Given the description of an element on the screen output the (x, y) to click on. 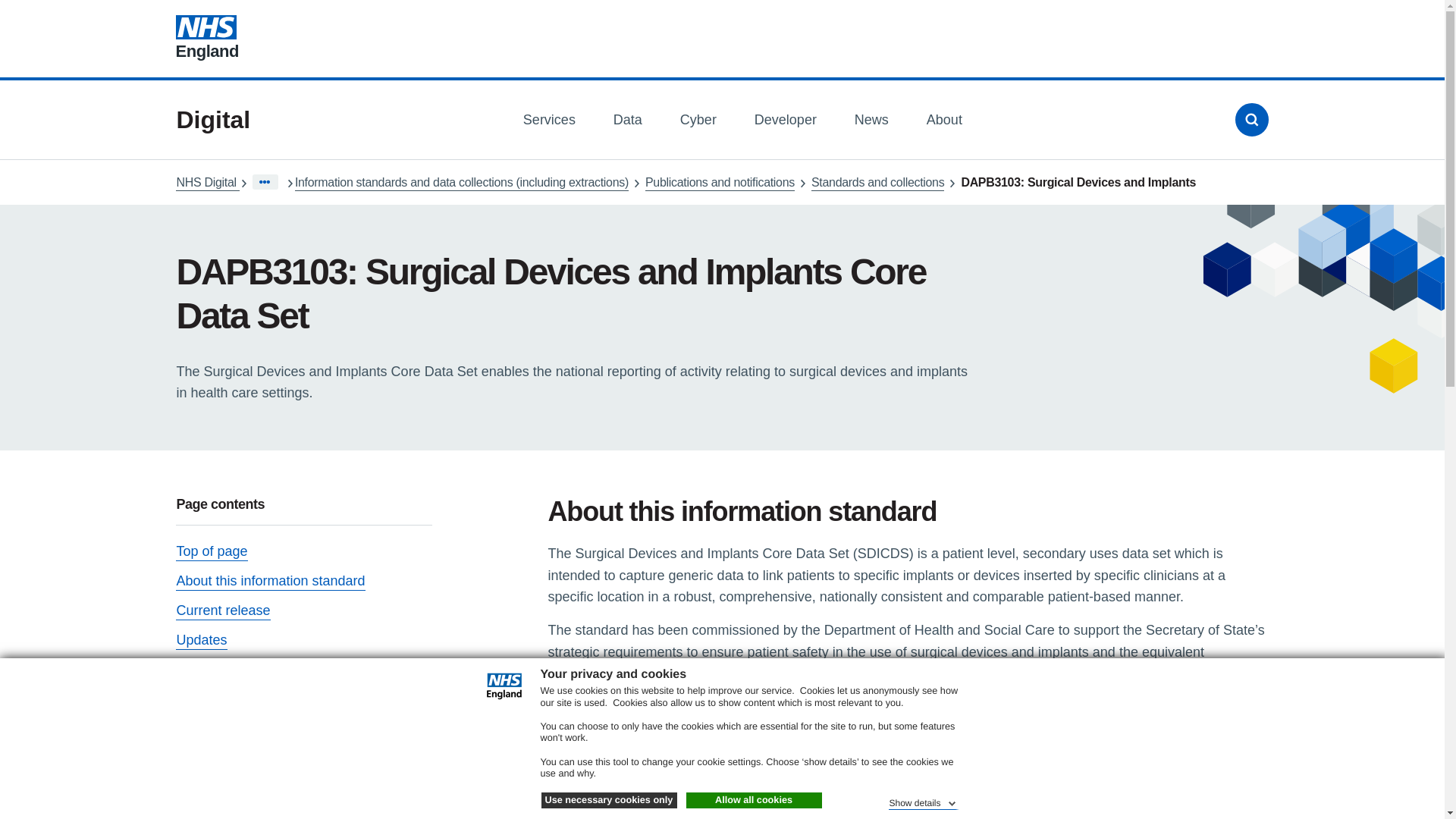
Show details (923, 800)
Allow all cookies (753, 800)
Use necessary cookies only (609, 800)
